Given the description of an element on the screen output the (x, y) to click on. 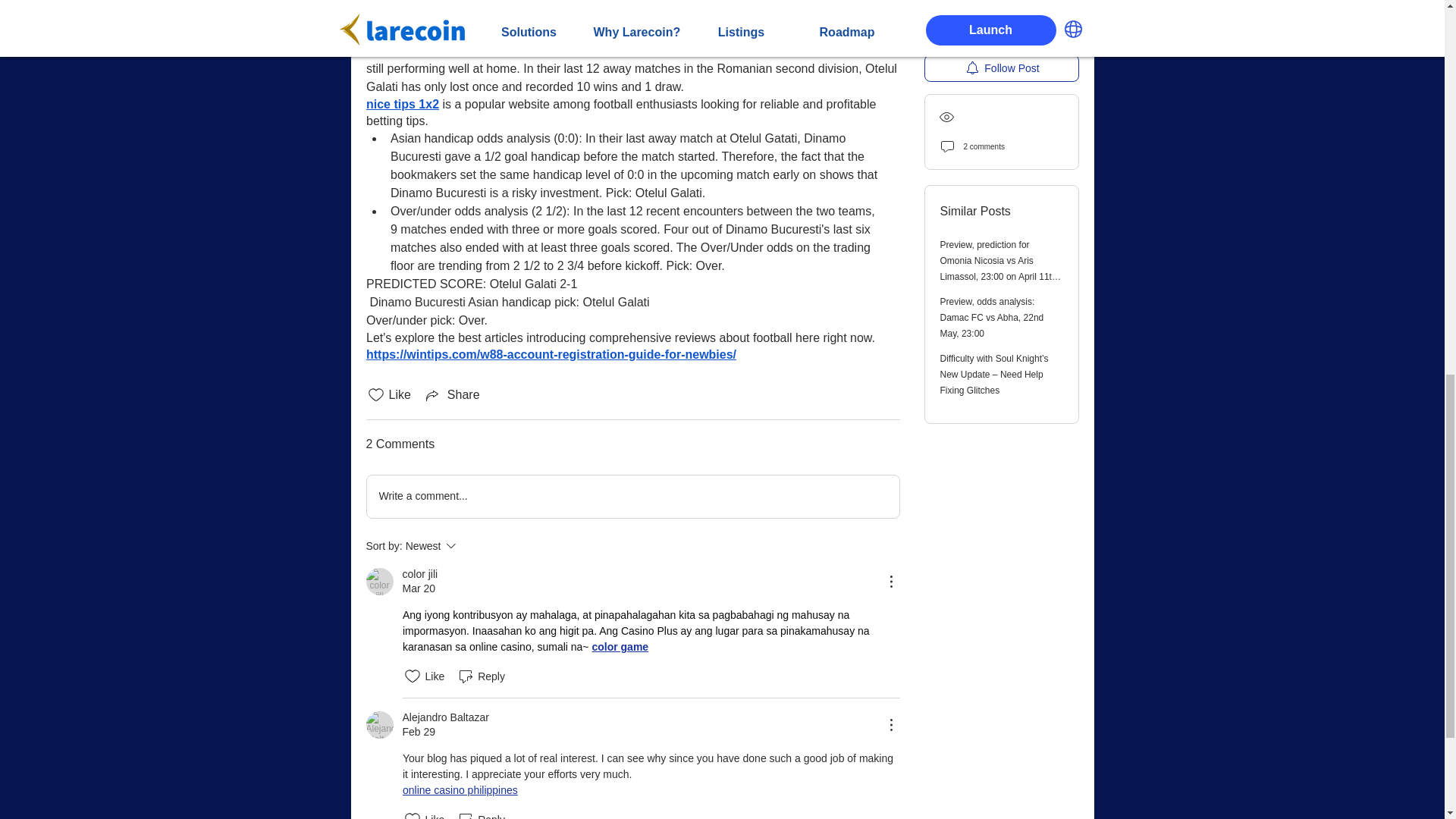
color game (471, 546)
color jili (619, 646)
Share (379, 581)
Alejandro Baltazar (451, 394)
online casino philippines (379, 724)
Reply (458, 789)
color jili (481, 814)
Write a comment... (419, 574)
nice tips 1x2 (632, 496)
